Given the description of an element on the screen output the (x, y) to click on. 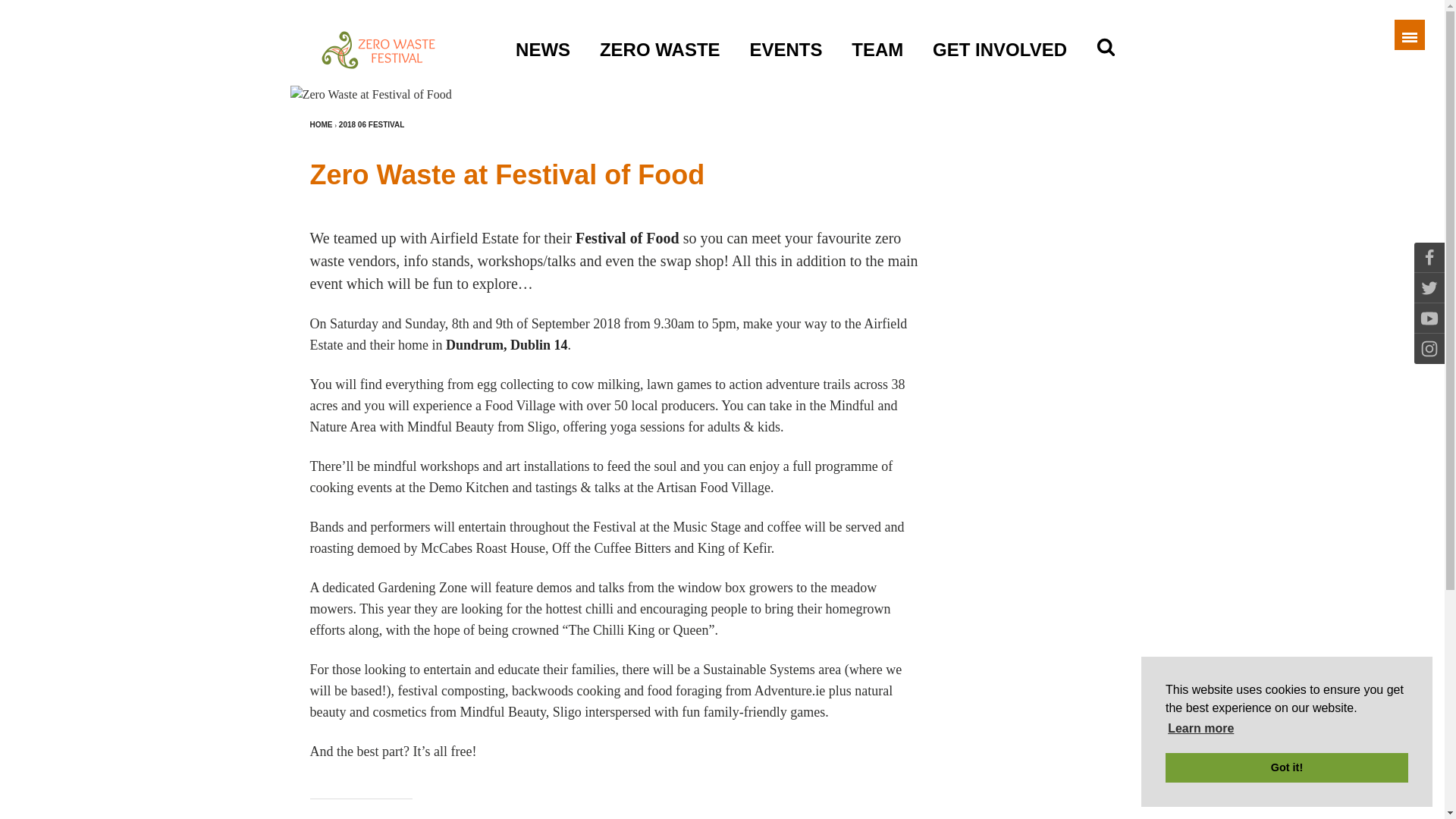
HOME (319, 125)
2018 06 FESTIVAL (371, 125)
Got it! (1286, 767)
NEWS (542, 34)
Dundrum, Dublin 14 (506, 344)
EVENTS (785, 34)
GET INVOLVED (1000, 34)
ZERO WASTE (659, 34)
Festival of Food (627, 238)
Learn more (1201, 728)
TEAM (876, 34)
